Given the description of an element on the screen output the (x, y) to click on. 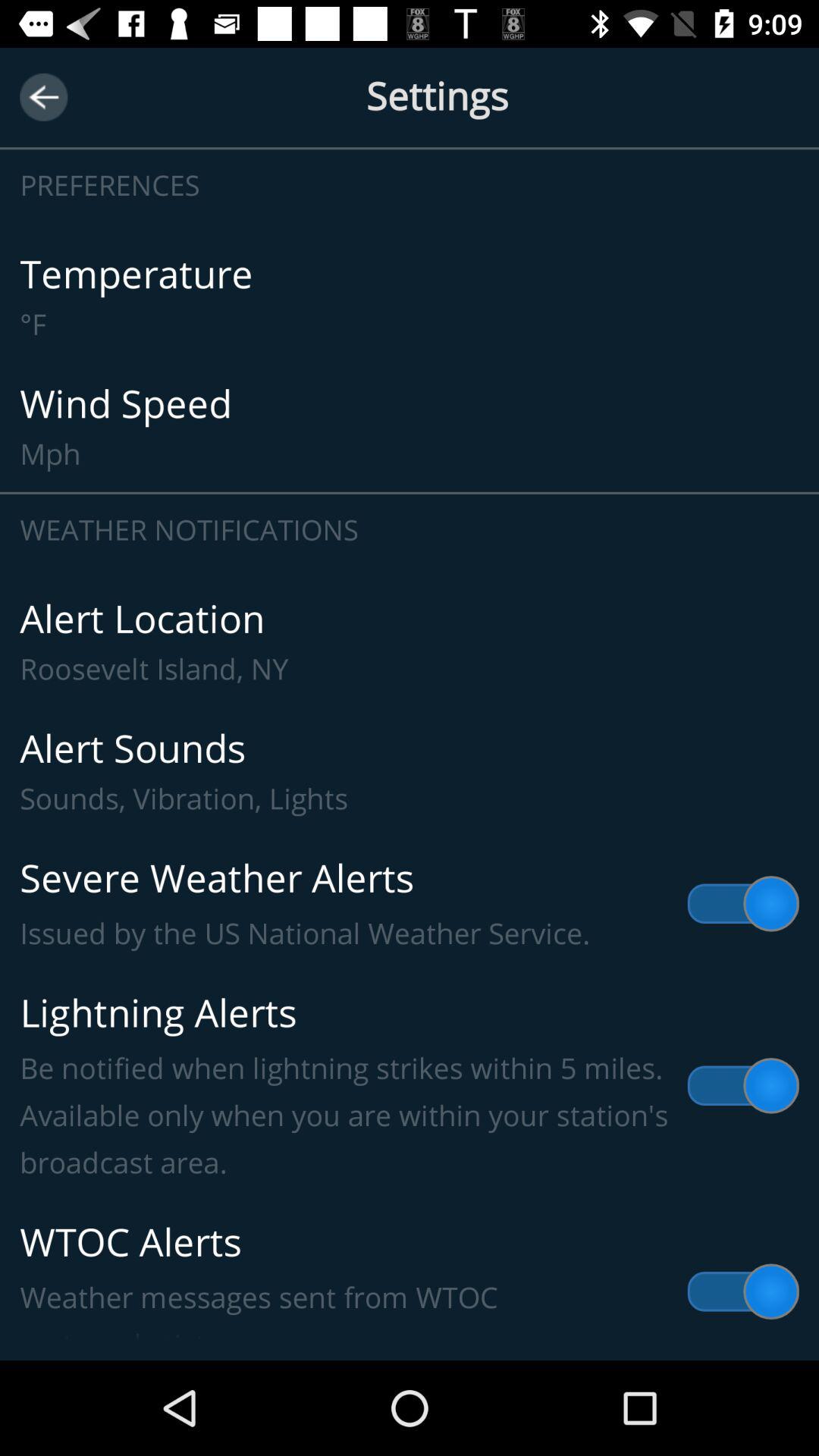
launch the icon above wtoc alerts weather (409, 1085)
